Given the description of an element on the screen output the (x, y) to click on. 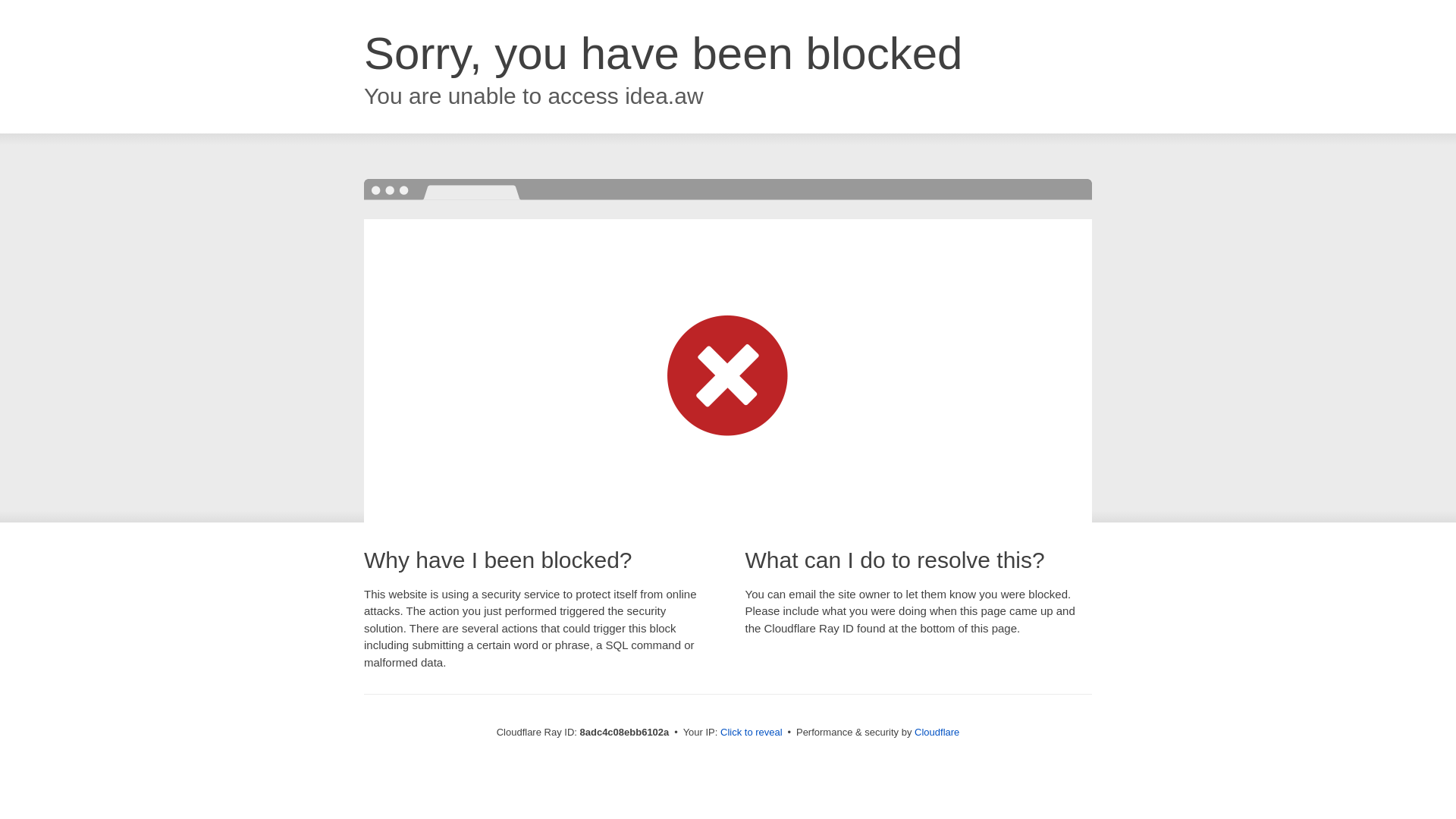
Cloudflare (936, 731)
Click to reveal (751, 732)
